Given the description of an element on the screen output the (x, y) to click on. 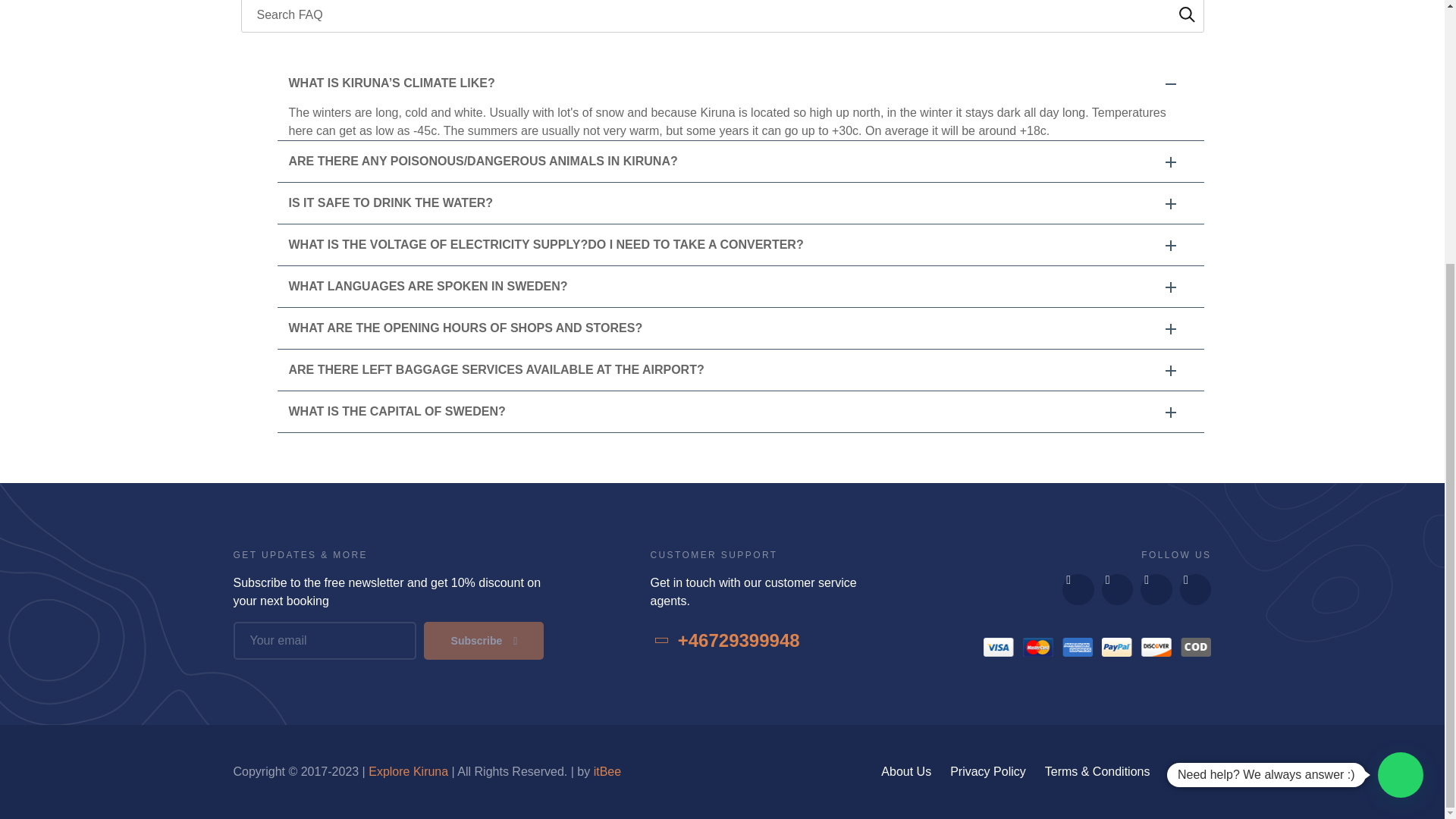
Support (1190, 771)
About Us (905, 771)
itBee (607, 771)
Privacy Policy (988, 771)
Explore Kiruna (408, 771)
Subscribe (483, 640)
